Given the description of an element on the screen output the (x, y) to click on. 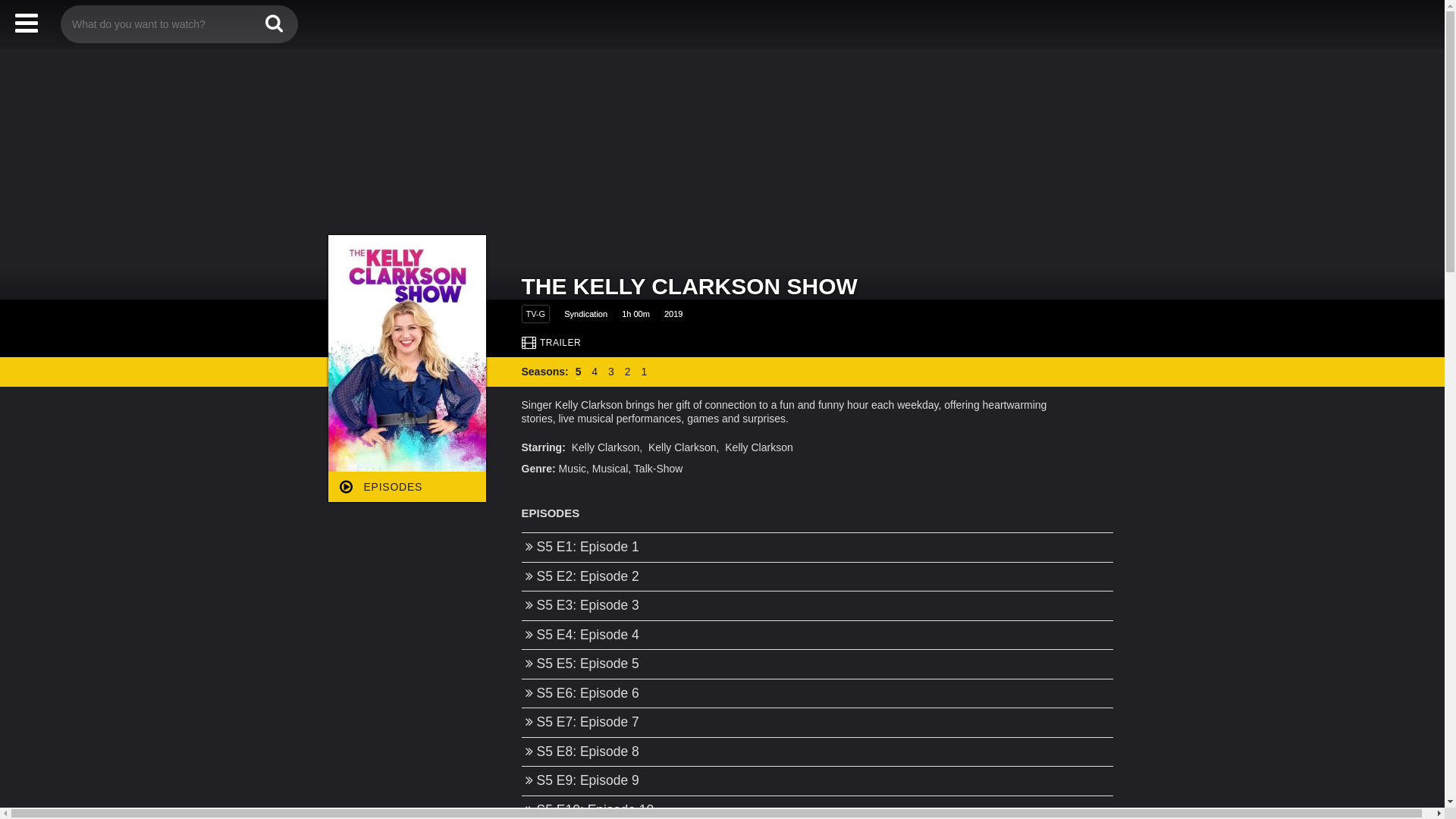
Free Movies Element type: hover (722, 22)
S5 E3: Episode 3 Element type: text (817, 605)
5 Element type: text (578, 371)
S5 E8: Episode 8 Element type: text (817, 751)
S5 E5: Episode 5 Element type: text (817, 664)
4 Element type: text (594, 371)
Kelly Clarkson Element type: text (758, 447)
S5 E6: Episode 6 Element type: text (817, 693)
2 Element type: text (627, 371)
S5 E10: Episode 10 Element type: text (817, 810)
1 Element type: text (643, 371)
Talk-Show Element type: text (658, 468)
Kelly Clarkson Element type: text (684, 447)
Kelly Clarkson Element type: text (608, 447)
Music Element type: text (572, 468)
S5 E7: Episode 7 Element type: text (817, 722)
TRAILER Element type: text (551, 342)
S5 E4: Episode 4 Element type: text (817, 634)
EPISODES Element type: text (406, 486)
3 Element type: text (611, 371)
S5 E9: Episode 9 Element type: text (817, 780)
S5 E2: Episode 2 Element type: text (817, 576)
S5 E1: Episode 1 Element type: text (817, 547)
Musical Element type: text (609, 468)
